Given the description of an element on the screen output the (x, y) to click on. 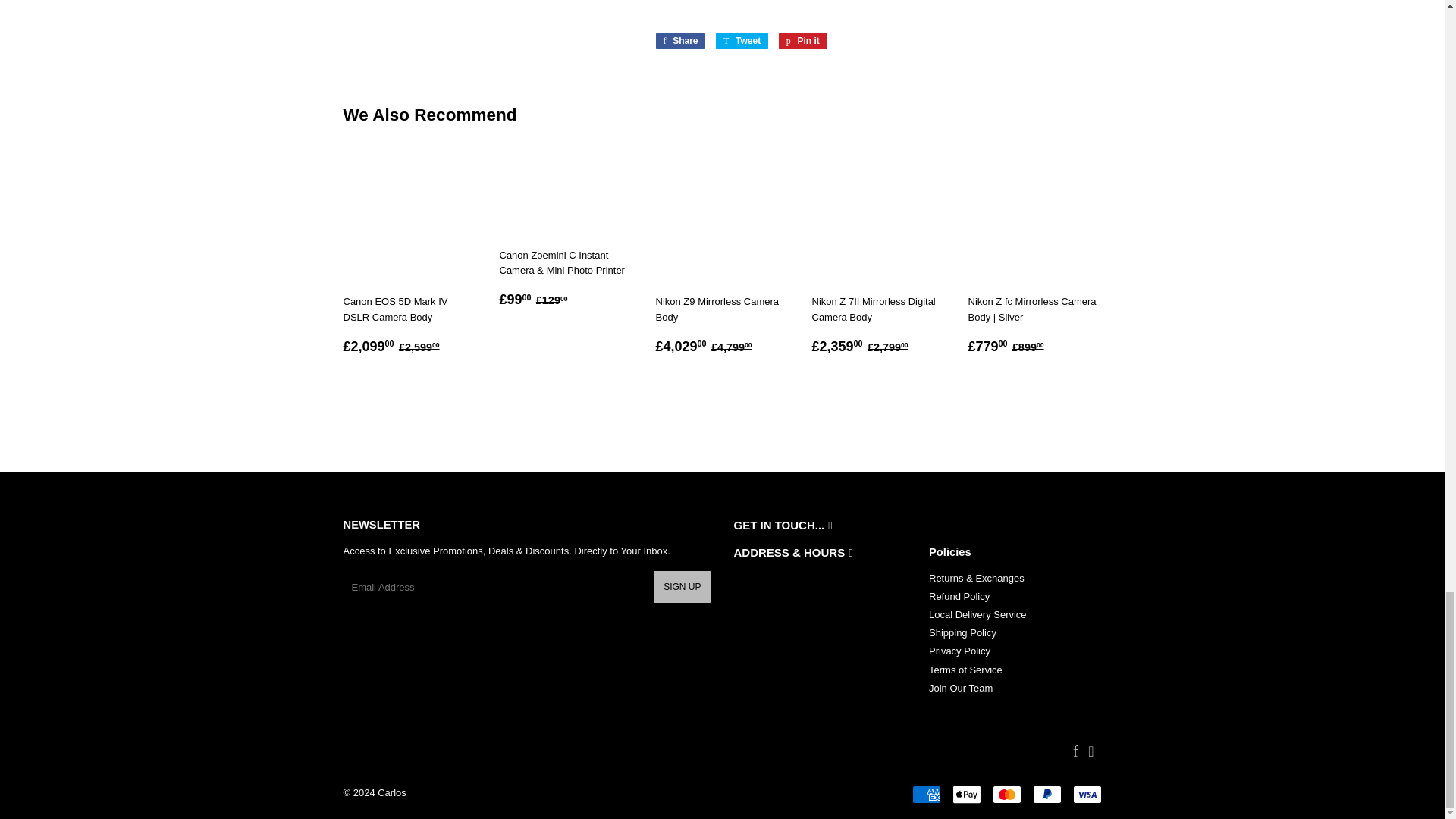
American Express (925, 794)
Visa (1085, 794)
Tweet on Twitter (742, 40)
PayPal (1046, 794)
Apple Pay (966, 794)
Pin on Pinterest (802, 40)
Mastercard (1005, 794)
Share on Facebook (679, 40)
